Given the description of an element on the screen output the (x, y) to click on. 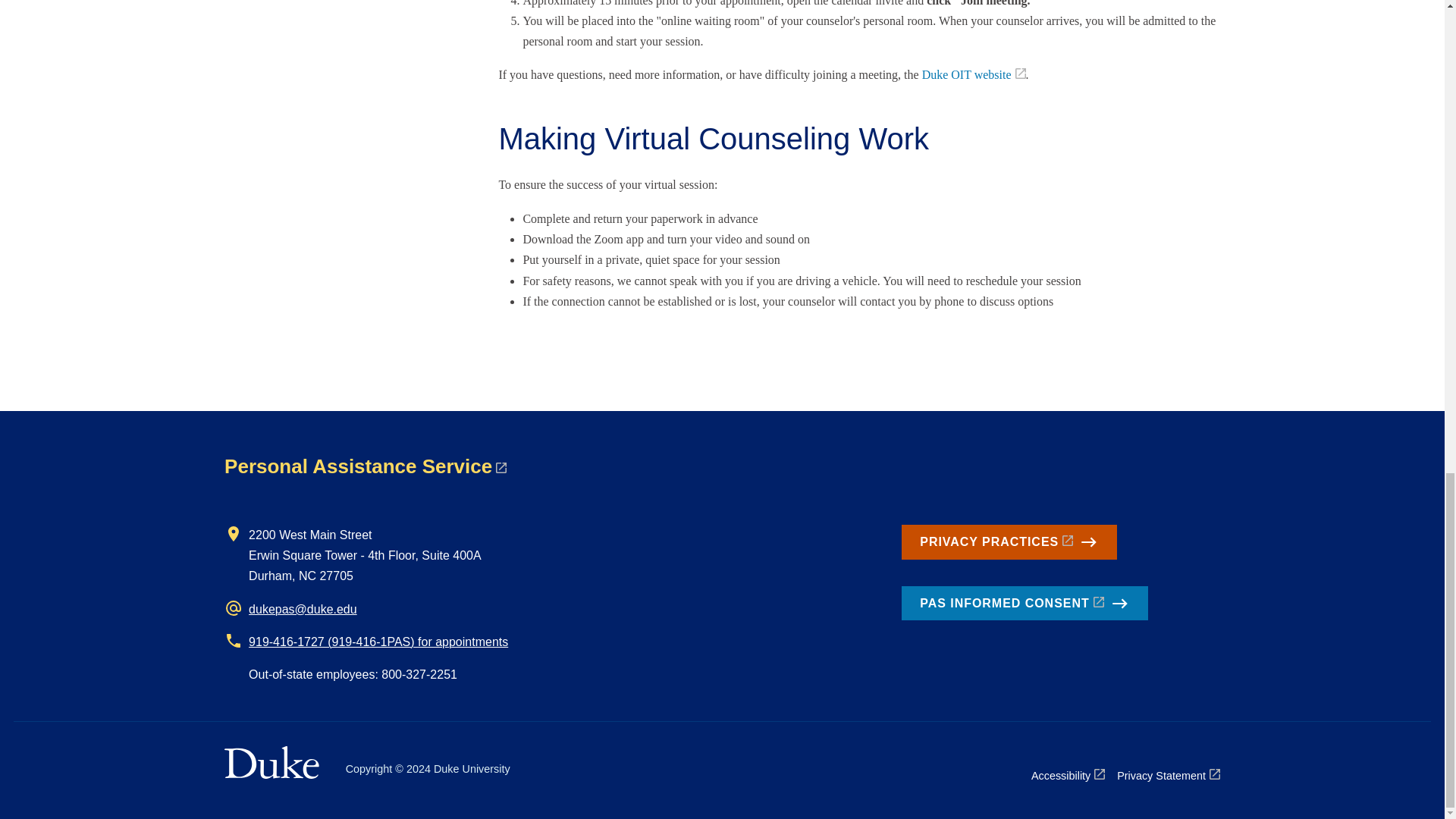
Accessibility (1067, 775)
Duke OIT website (973, 74)
PRIVACY PRACTICES (1008, 541)
Personal Assistance Service (365, 466)
Privacy Statement (1168, 775)
PAS INFORMED CONSENT (1024, 603)
